Given the description of an element on the screen output the (x, y) to click on. 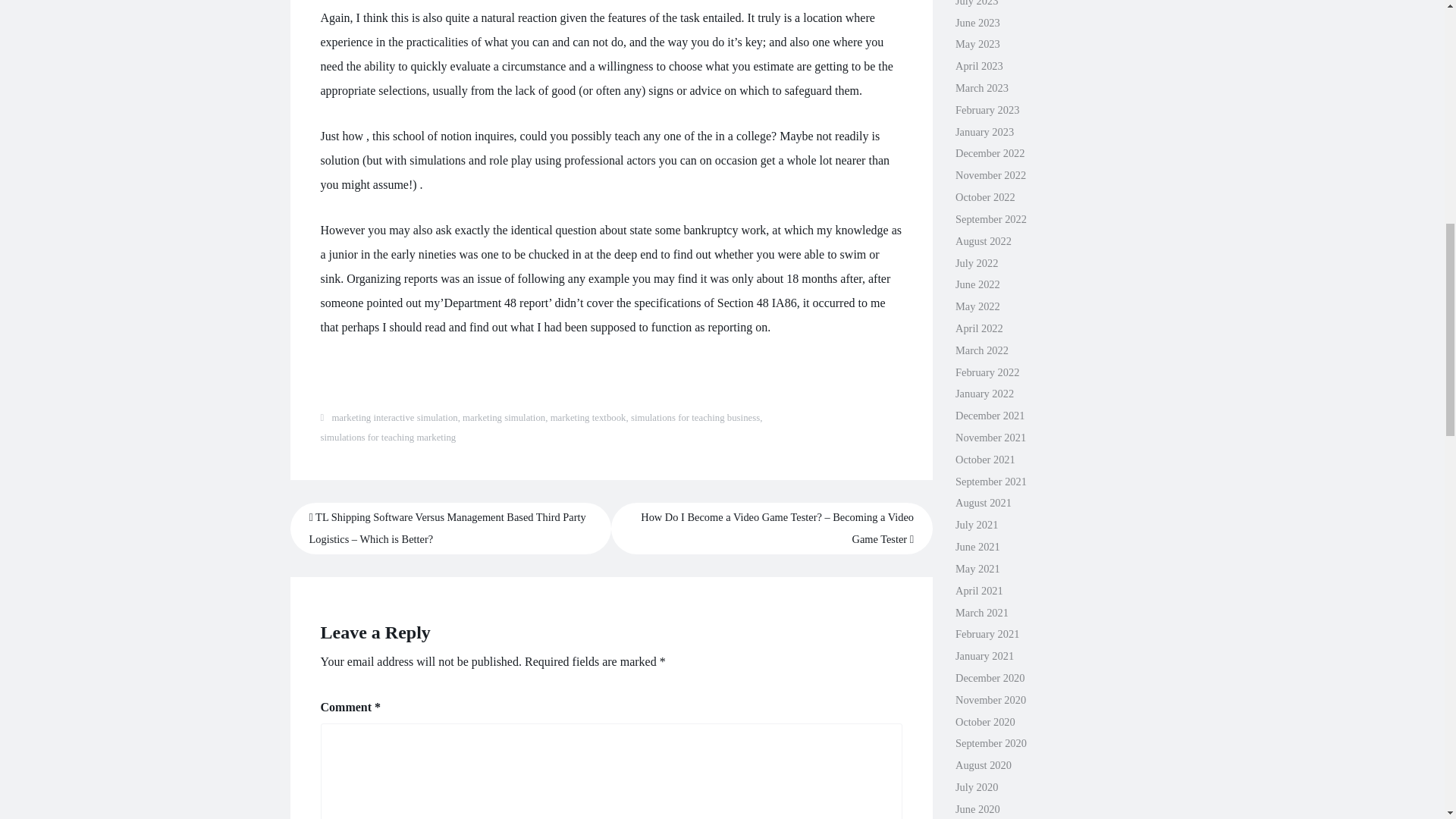
July 2023 (976, 3)
marketing interactive simulation (394, 417)
marketing simulation (503, 417)
simulations for teaching business (695, 417)
simulations for teaching marketing (387, 437)
marketing textbook (588, 417)
